Given the description of an element on the screen output the (x, y) to click on. 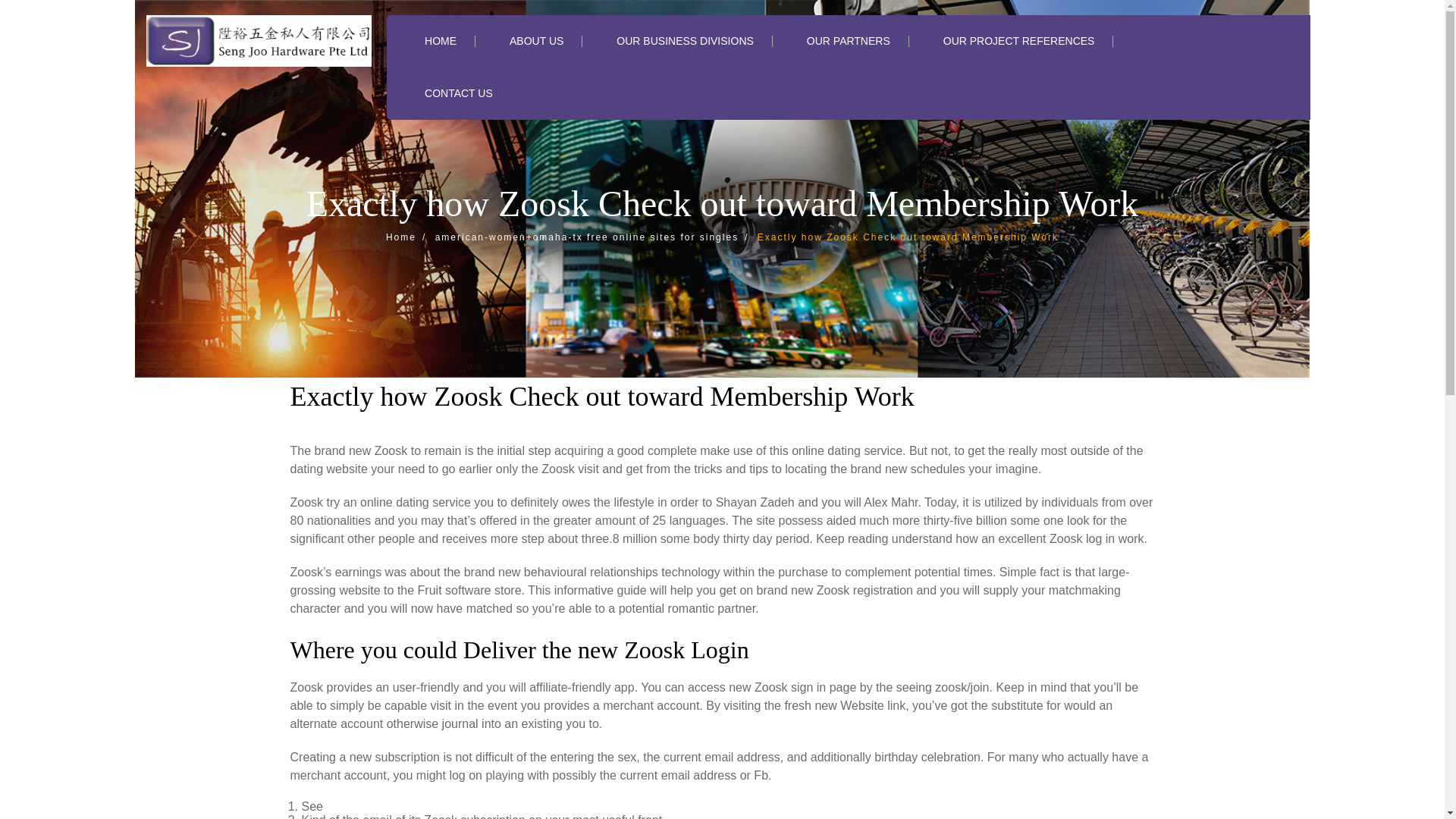
OUR PARTNERS (847, 41)
ABOUT US (536, 41)
CONTACT US (459, 93)
Home (408, 237)
OUR PROJECT REFERENCES (1018, 41)
HOME (441, 41)
OUR BUSINESS DIVISIONS (683, 41)
Go to Seng Joo Hardware Pte Ltd. (408, 237)
